Given the description of an element on the screen output the (x, y) to click on. 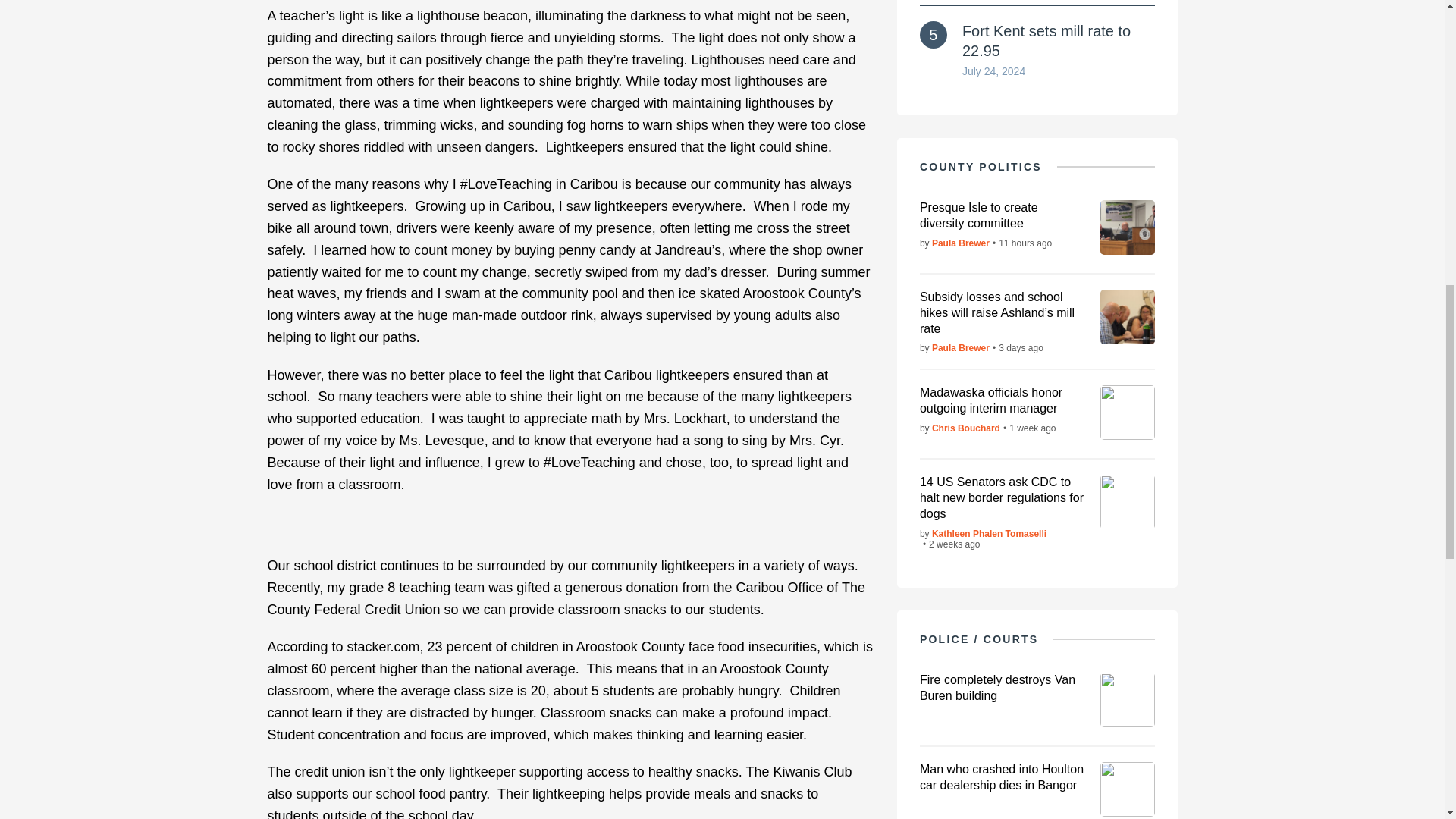
Posts by Chris Bouchard (965, 428)
Posts by Paula Brewer (960, 347)
Posts by Paula Brewer (960, 243)
Posts by Kathleen Phalen Tomaselli (988, 533)
